Given the description of an element on the screen output the (x, y) to click on. 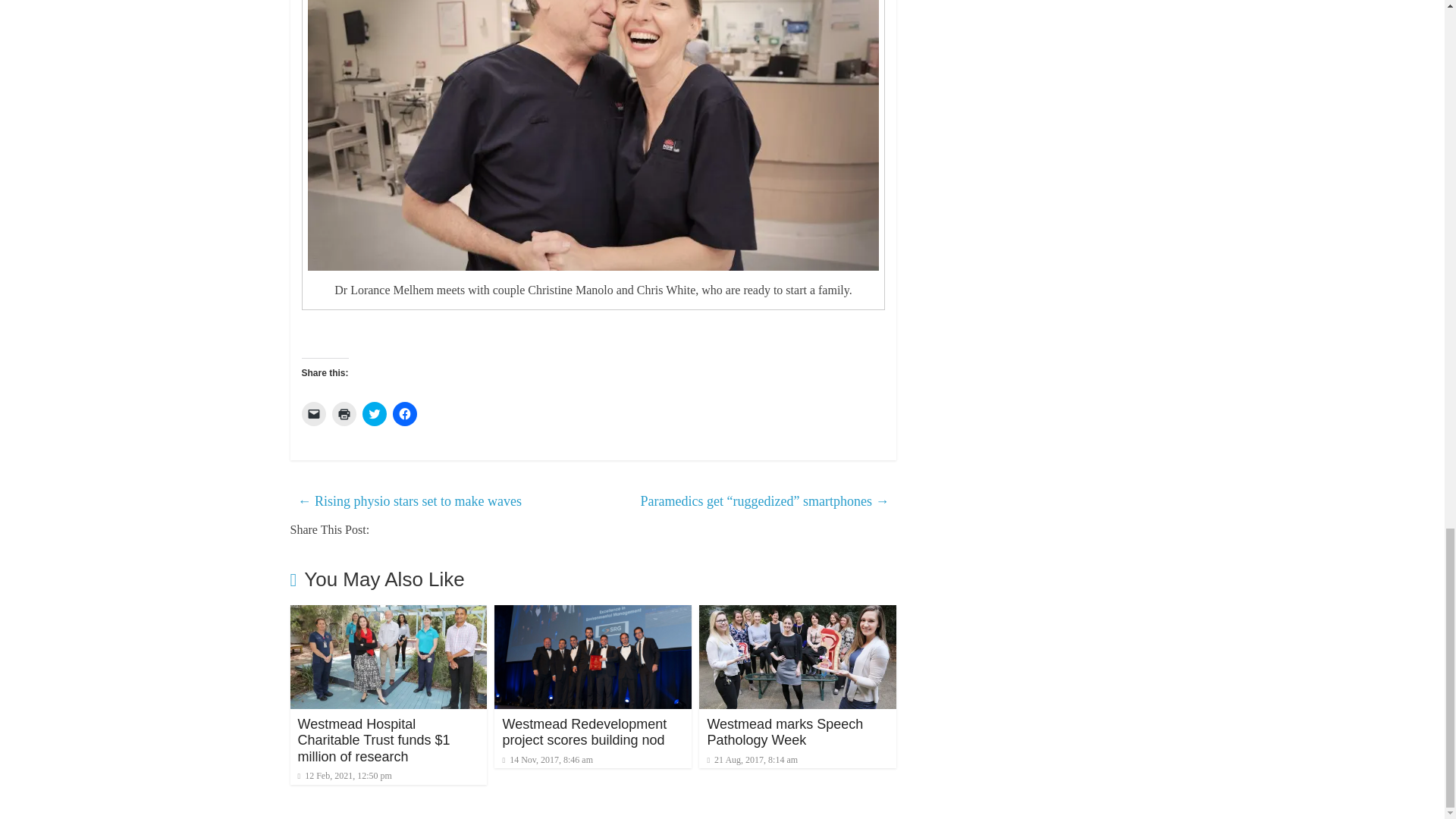
Click to email a link to a friend (313, 413)
Click to print (343, 413)
